Given the description of an element on the screen output the (x, y) to click on. 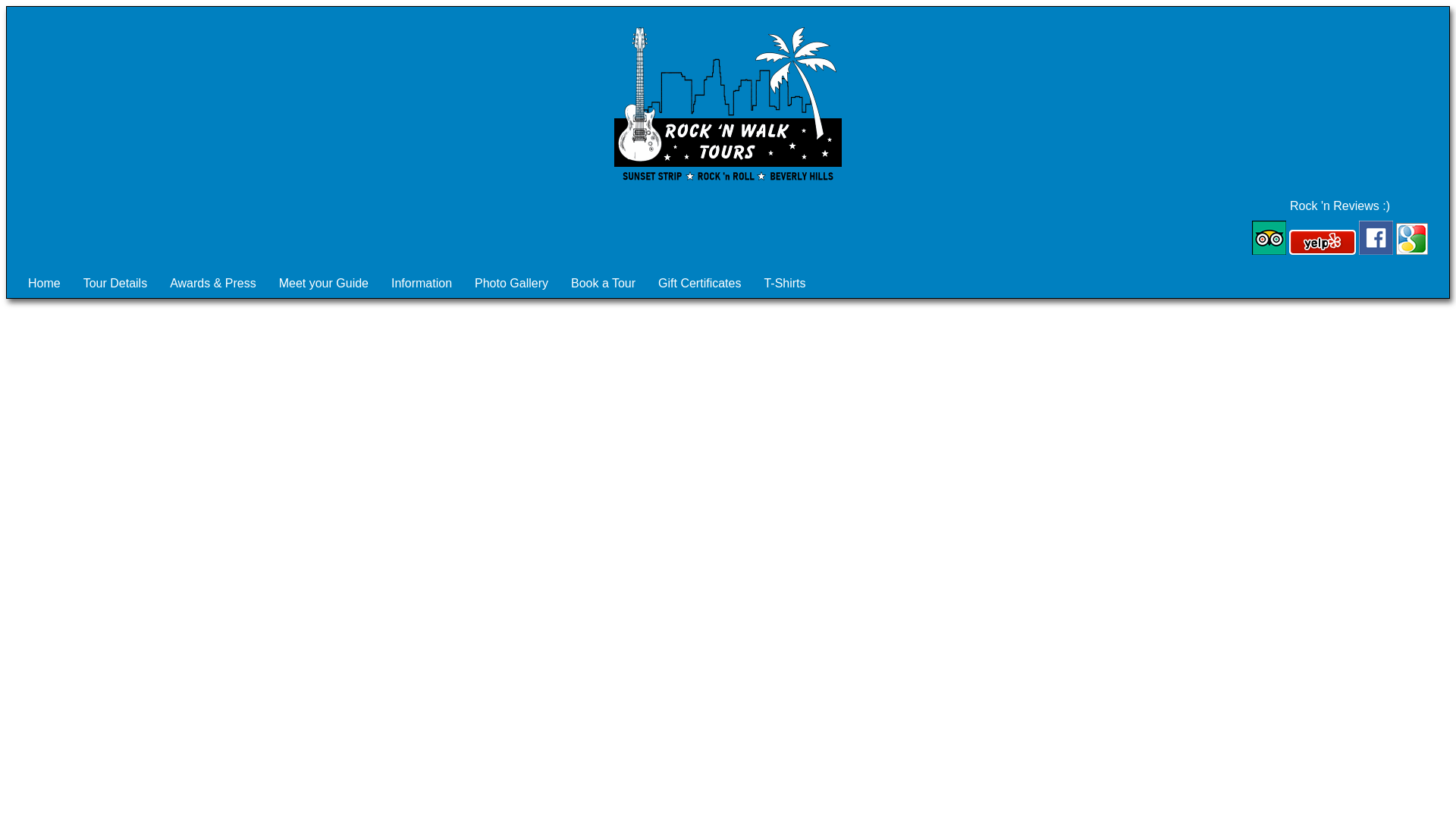
Book a Tour (602, 283)
Gift Certificates (699, 283)
Photo Gallery (511, 283)
Information (421, 283)
Meet your Guide (323, 283)
Home (43, 283)
Trip Advisor Reviews! (1268, 237)
Tour Details (114, 283)
Like us on Facebook! (1375, 237)
Google Reviews! (1412, 238)
T-Shirts (784, 283)
